Given the description of an element on the screen output the (x, y) to click on. 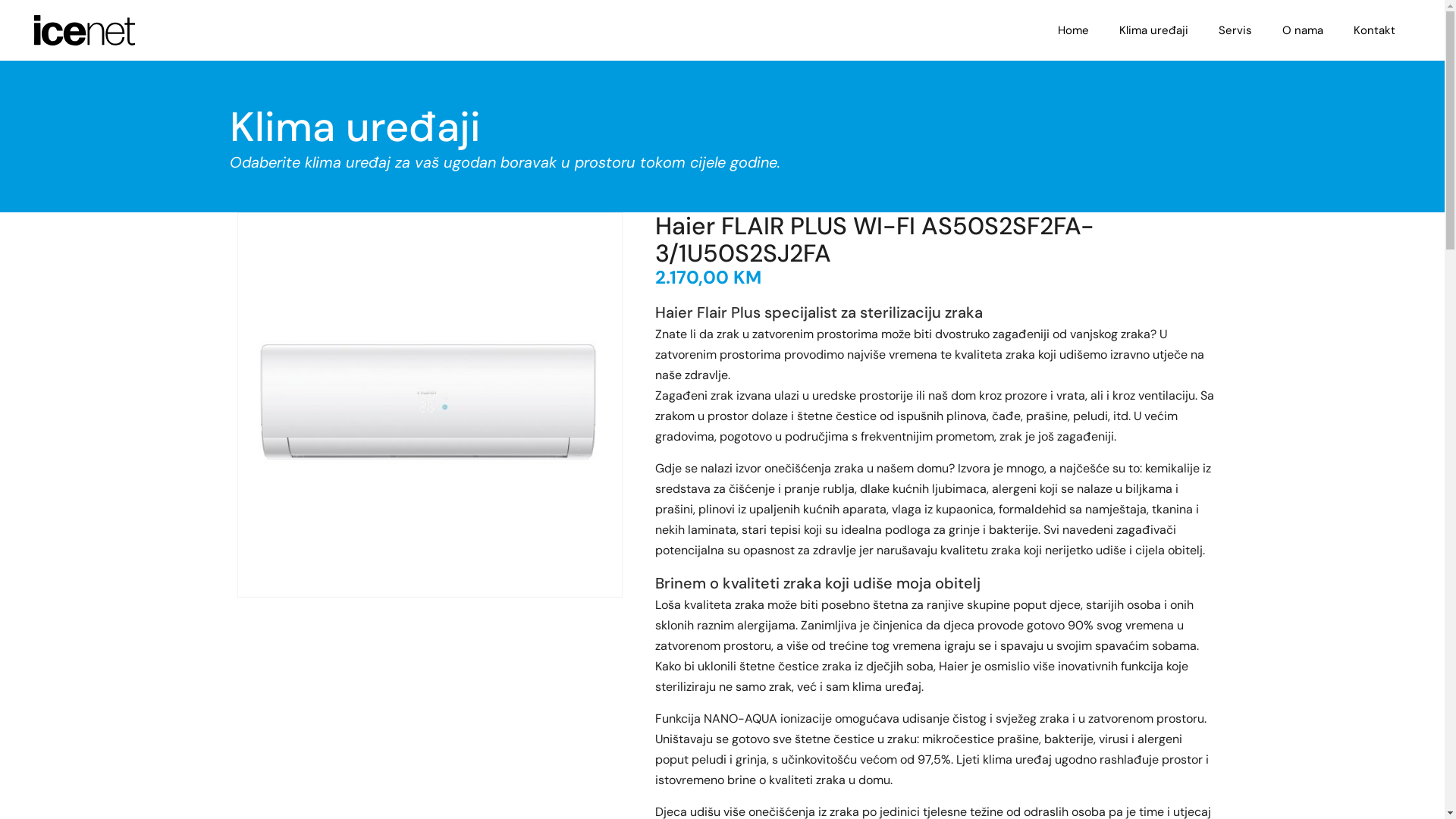
Kontakt Element type: text (1374, 30)
O nama Element type: text (1302, 30)
Servis Element type: text (1235, 30)
Haier_Brezza_R32 Element type: hover (429, 404)
Home Element type: text (1073, 30)
